Given the description of an element on the screen output the (x, y) to click on. 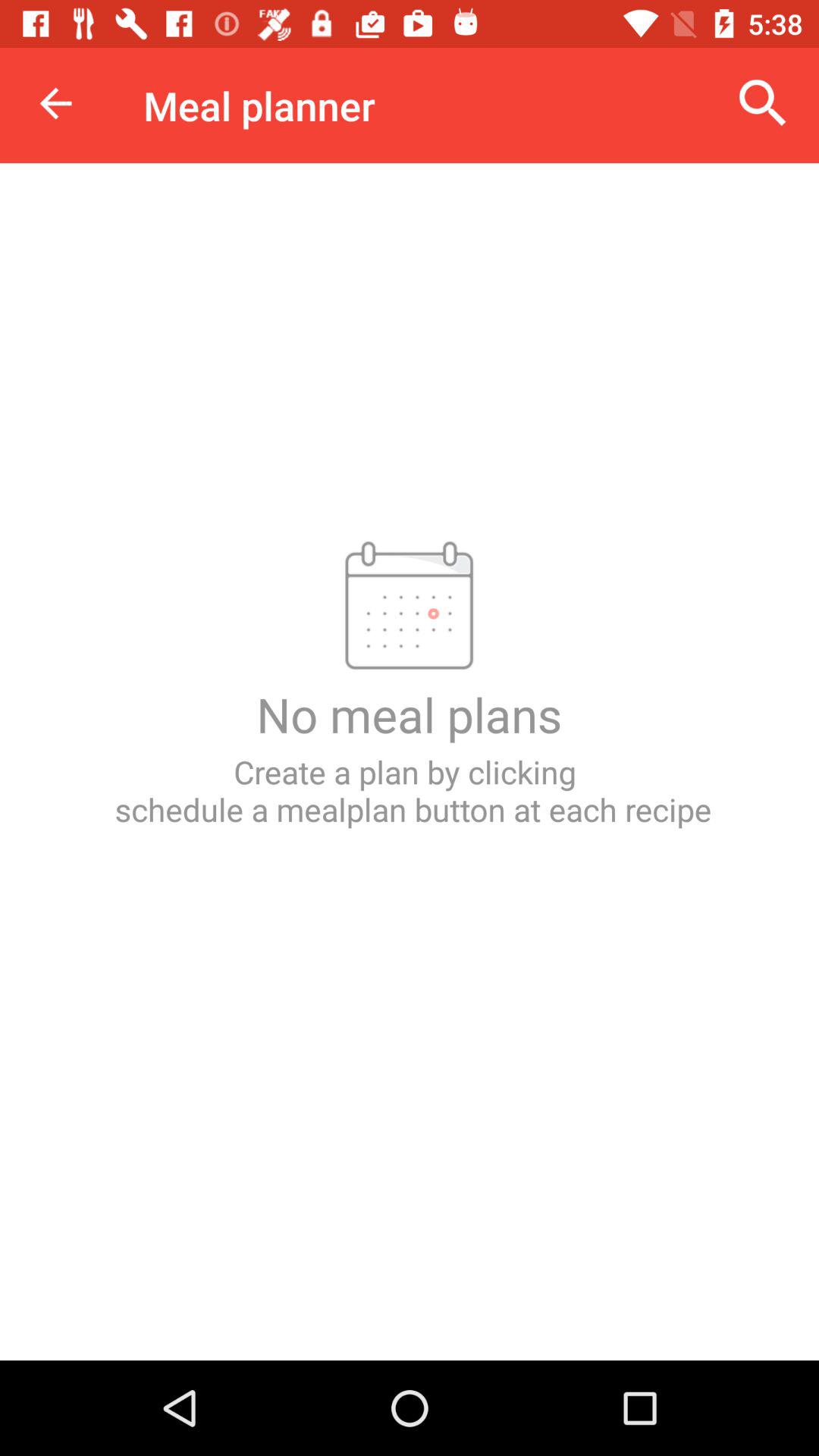
choose item at the top right corner (763, 103)
